Given the description of an element on the screen output the (x, y) to click on. 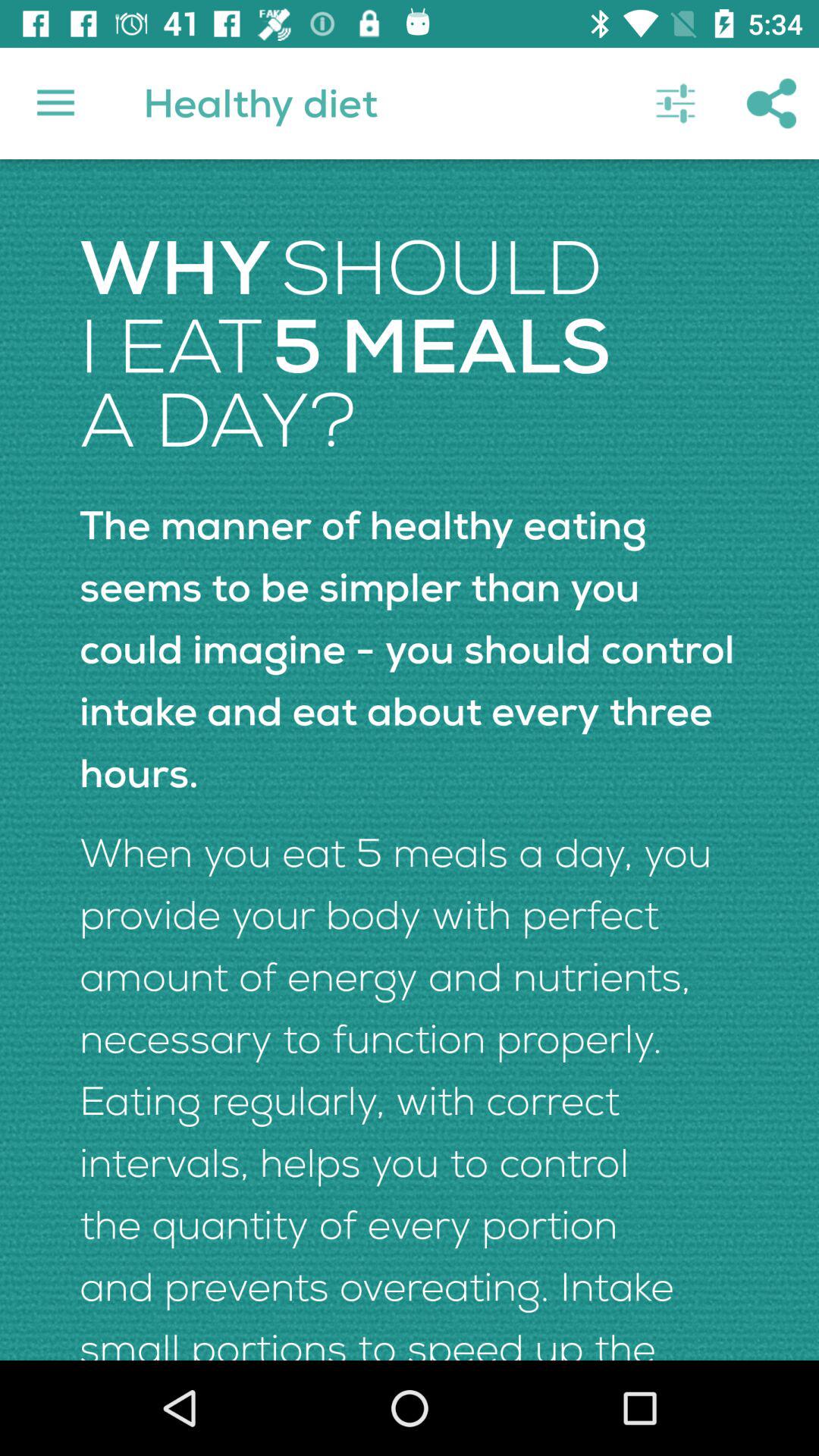
launch item above the why (55, 103)
